Given the description of an element on the screen output the (x, y) to click on. 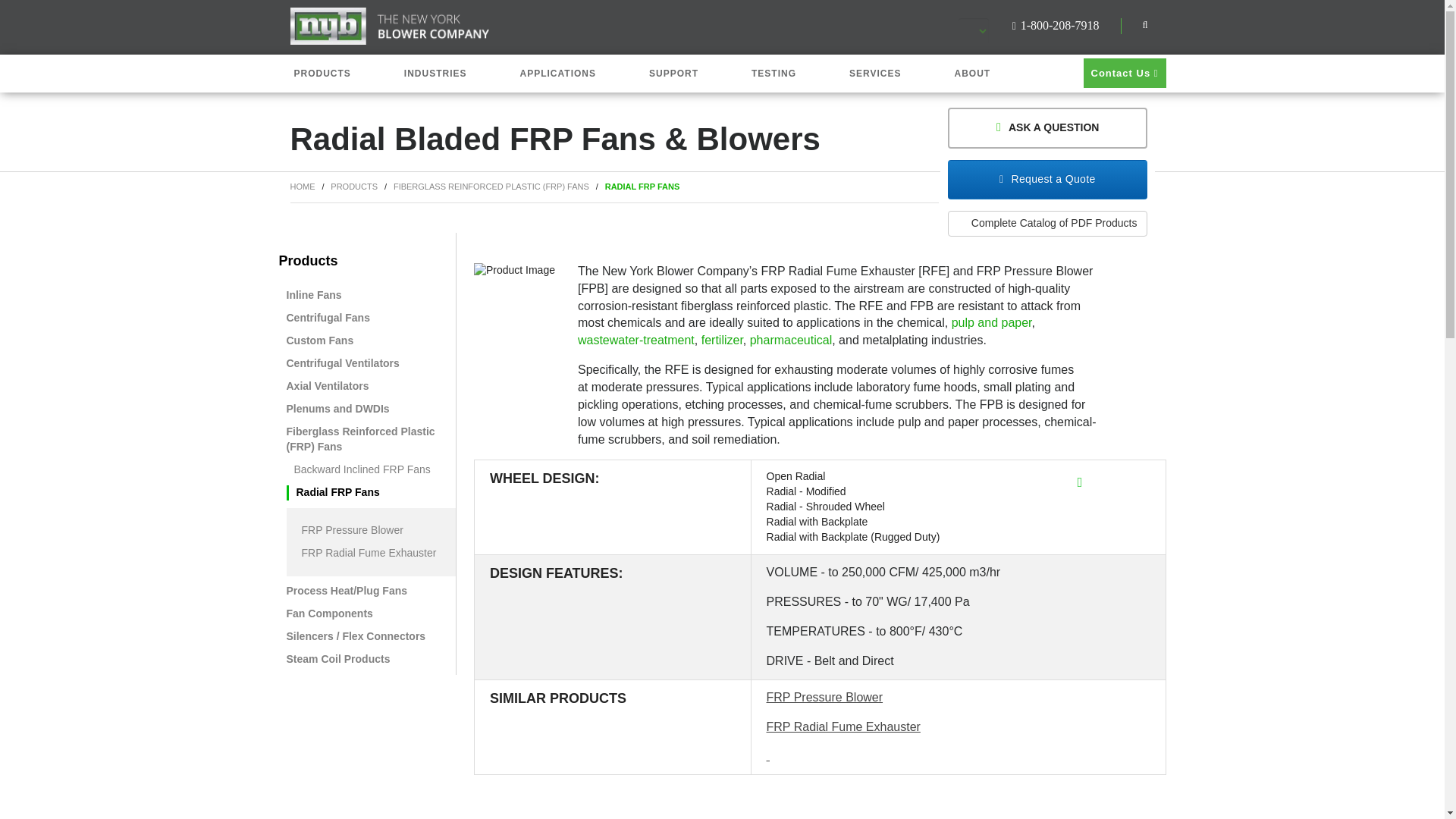
PRODUCTS (328, 73)
1-800-208-7918 (1055, 24)
Home - New York Blower Company (389, 26)
